Given the description of an element on the screen output the (x, y) to click on. 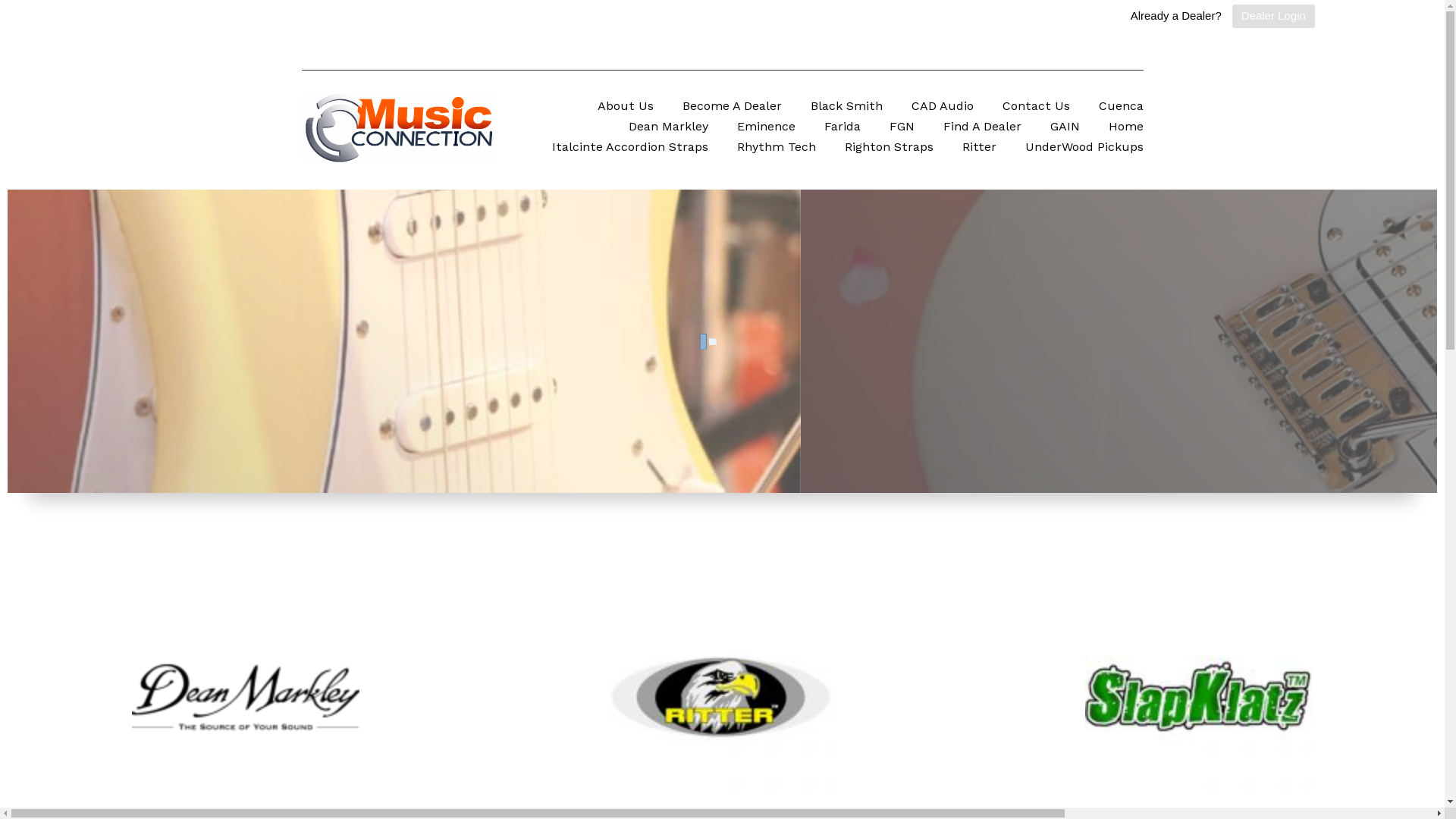
Find A Dealer Element type: text (982, 127)
Righton Straps Element type: text (888, 148)
Contact Us Element type: text (1036, 107)
Dealer Login Element type: text (1273, 16)
Rhythm Tech Element type: text (776, 148)
Dean Markley Element type: text (667, 127)
Home Element type: text (1125, 127)
Farida Element type: text (841, 127)
Italcinte Accordion Straps Element type: text (630, 148)
Eminence Element type: text (766, 127)
Become A Dealer Element type: text (731, 107)
CAD Audio Element type: text (942, 107)
Cuenca Element type: text (1120, 107)
Ritter Element type: text (978, 148)
FGN Element type: text (900, 127)
Black Smith Element type: text (845, 107)
About Us Element type: text (625, 107)
UnderWood Pickups Element type: text (1084, 148)
GAIN Element type: text (1064, 127)
